Given the description of an element on the screen output the (x, y) to click on. 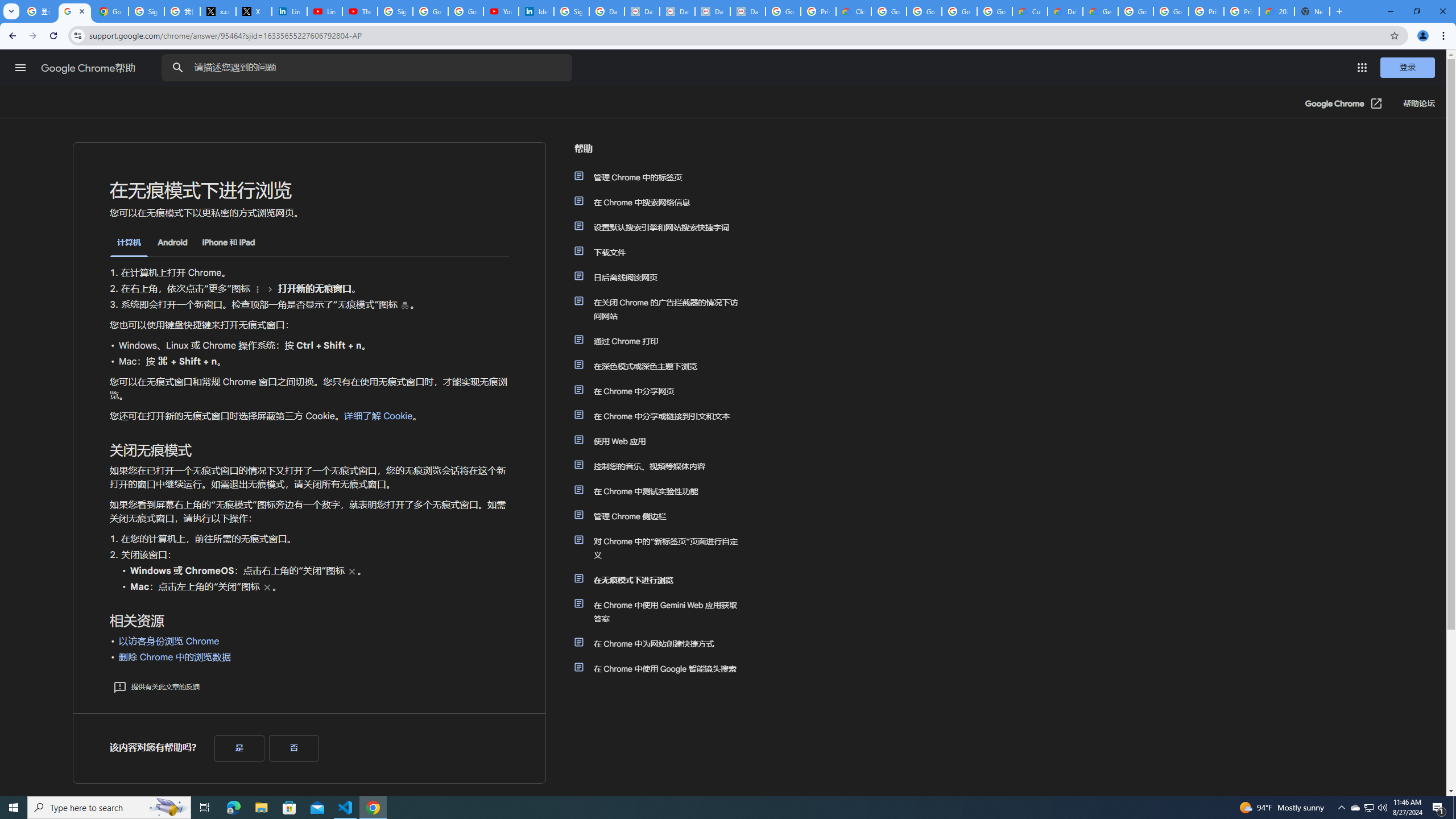
Sign in - Google Accounts (145, 11)
LinkedIn - YouTube (324, 11)
X (253, 11)
